Given the description of an element on the screen output the (x, y) to click on. 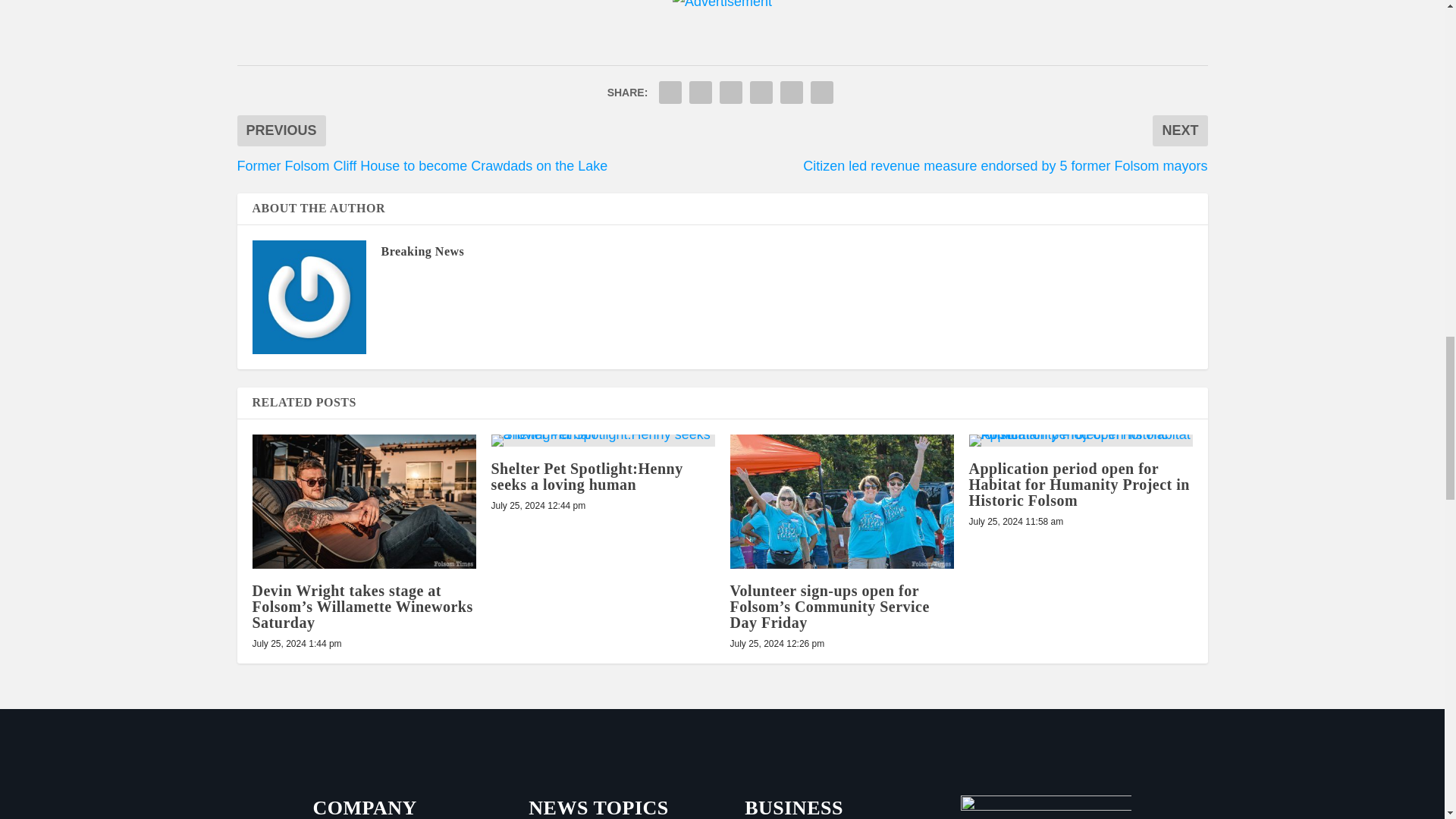
View all posts by Breaking News (422, 250)
Shelter Pet Spotlight:Henny seeks a loving human (603, 440)
